Given the description of an element on the screen output the (x, y) to click on. 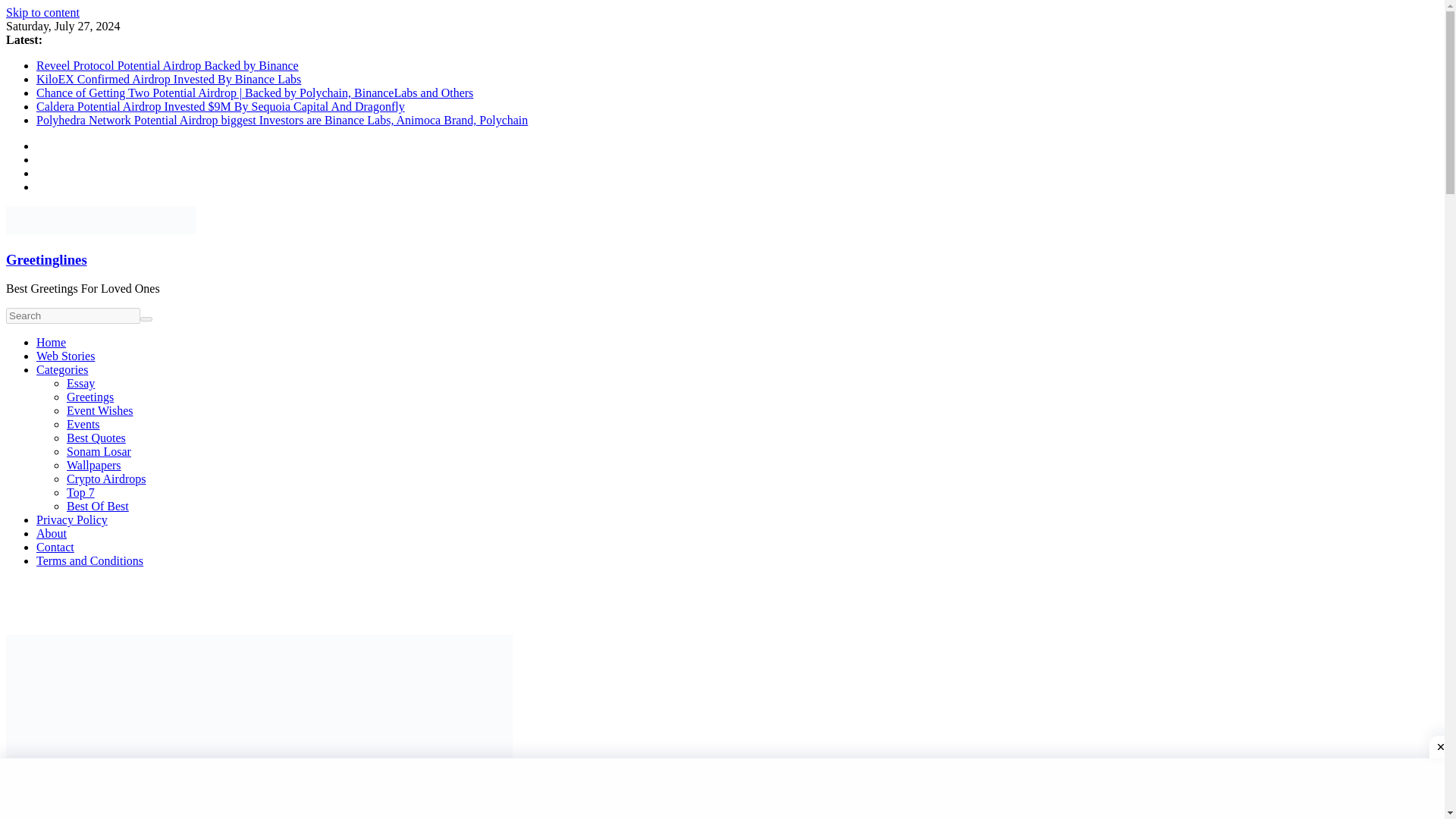
TERMS AND CONDITIONS (864, 306)
12:18 pm (340, 817)
ABOUT (689, 306)
CATEGORIES (503, 306)
December 28, 2020 (340, 817)
0 Comments (548, 817)
Greeting Lines (428, 817)
PRIVACY POLICY (607, 306)
HOME (338, 306)
